Given the description of an element on the screen output the (x, y) to click on. 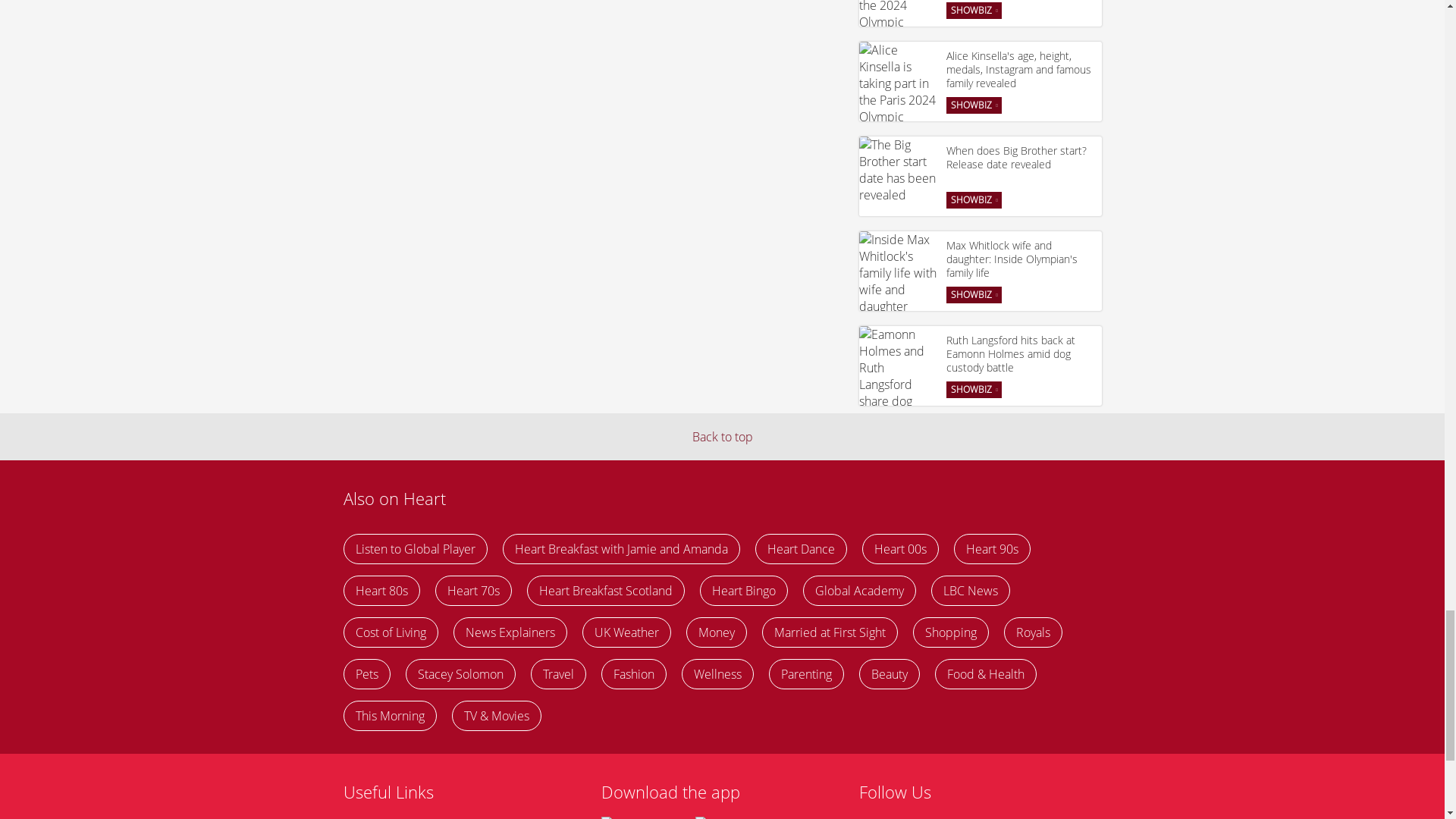
Back to top (721, 436)
